Given the description of an element on the screen output the (x, y) to click on. 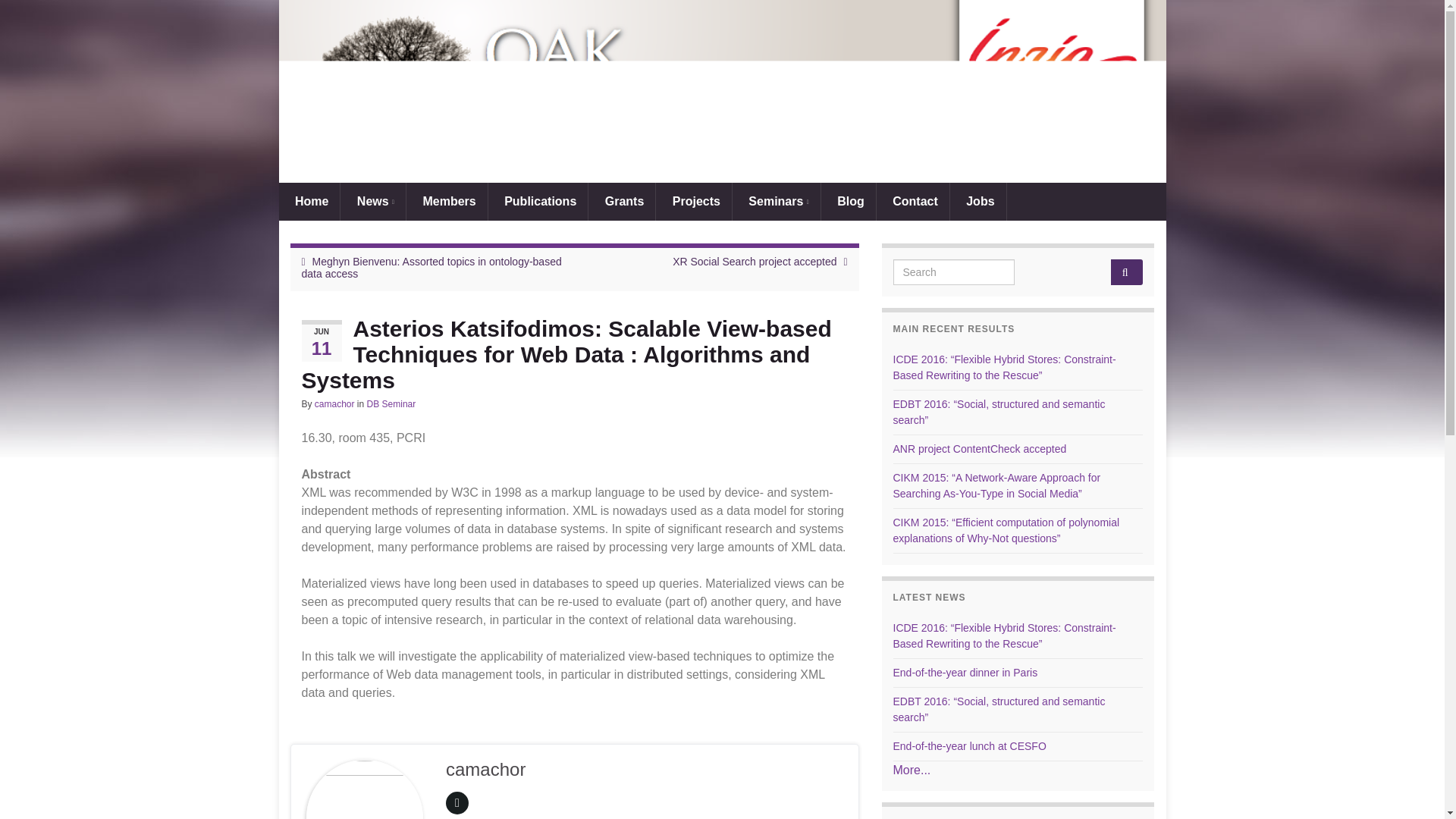
Publications (537, 201)
XR Social Search project accepted (753, 261)
More... (912, 769)
camachor (334, 403)
News (373, 201)
Grants (621, 201)
Blog (848, 201)
DB Seminar (391, 403)
ANR project ContentCheck accepted (980, 449)
End-of-the-year lunch at CESFO (969, 746)
End-of-the-year dinner in Paris (965, 672)
Seminars (776, 201)
Jobs (978, 201)
